Given the description of an element on the screen output the (x, y) to click on. 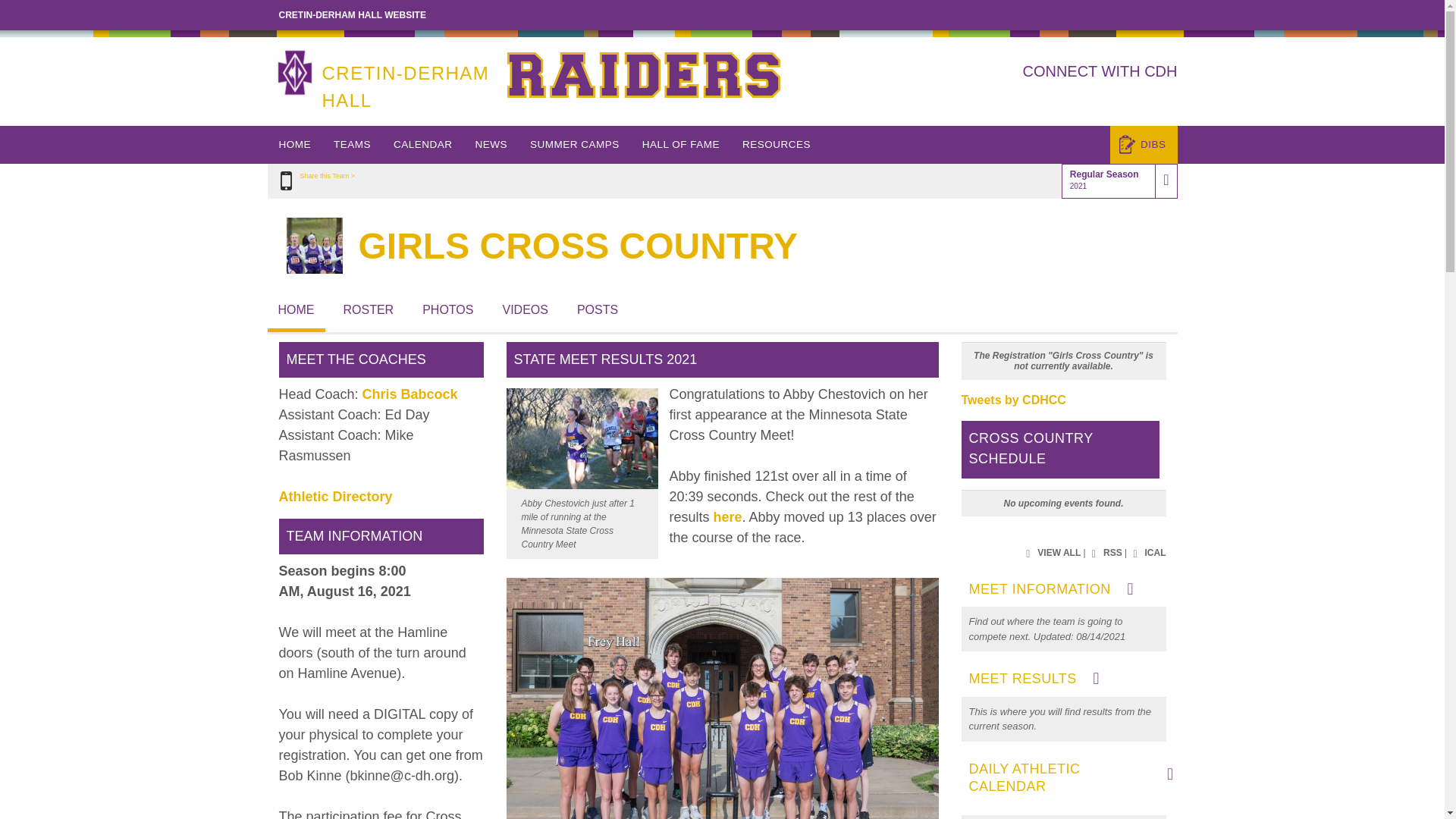
VIDEOS (524, 309)
click to go to 'Resources' (776, 144)
click to go to 'News' (491, 144)
Athletic Directory (336, 496)
HOME (293, 144)
Chris Babcock (410, 394)
click to go to 'Cretin-Derham Hall Athletic Hall of Fame' (680, 144)
TEAMS (351, 144)
POSTS (597, 309)
PHOTOS (447, 309)
Subscribe to RSS Feed (1104, 553)
GIRLS CROSS COUNTRY (577, 246)
click to go to '2024 CDH Summer Camps' (574, 144)
click to go to 'Home' (293, 144)
click to go to 'Teams' (351, 144)
